Given the description of an element on the screen output the (x, y) to click on. 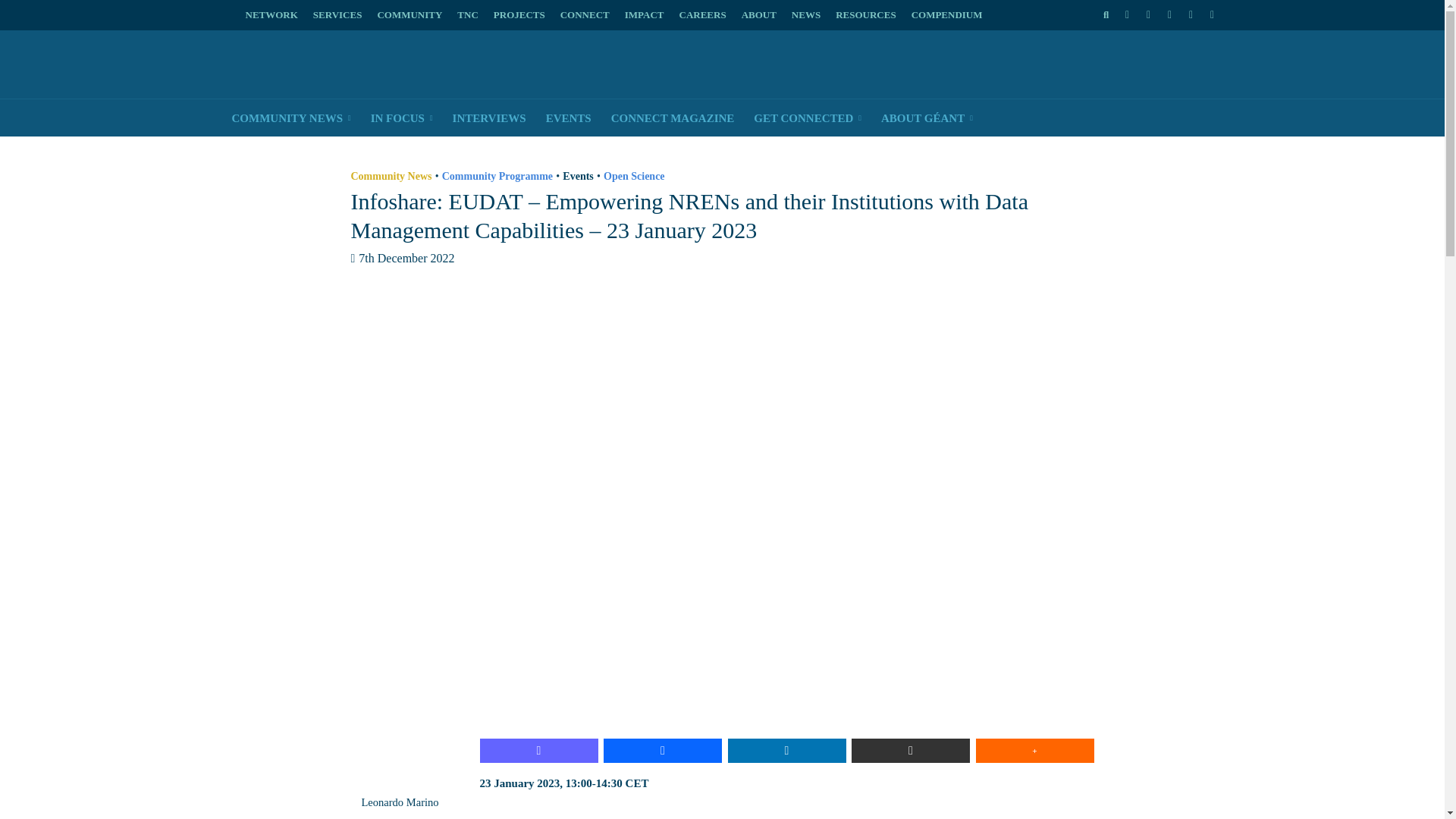
CONNECT (585, 15)
CONNECT MAGAZINE (672, 118)
COMMUNITY NEWS (290, 118)
INTERVIEWS (488, 118)
EVENTS (568, 118)
TNC (466, 15)
IN FOCUS (401, 118)
NETWORK (275, 15)
Share this on Mastodon (537, 750)
COMMUNITY (409, 15)
